Given the description of an element on the screen output the (x, y) to click on. 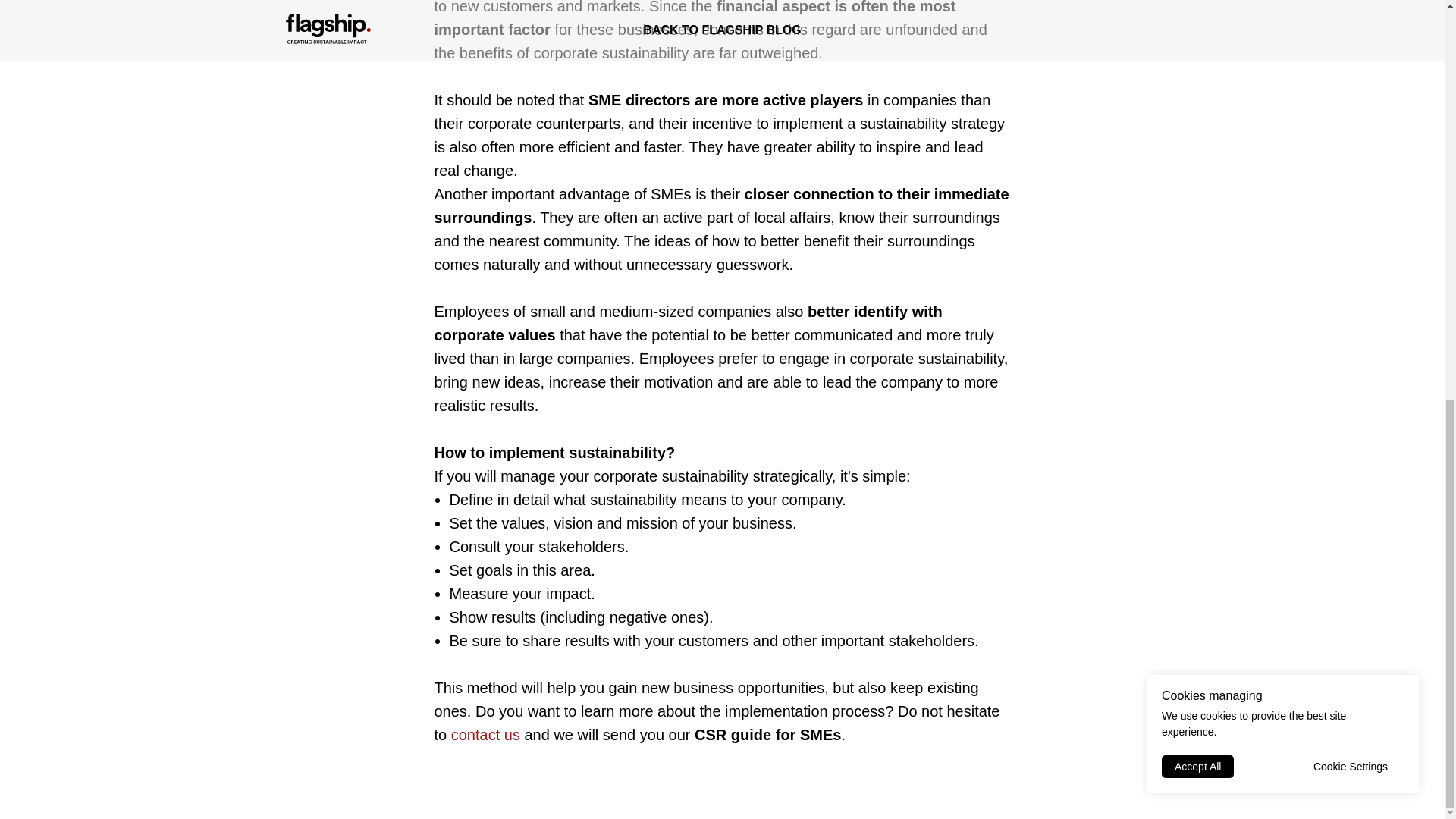
contact us (485, 734)
